Given the description of an element on the screen output the (x, y) to click on. 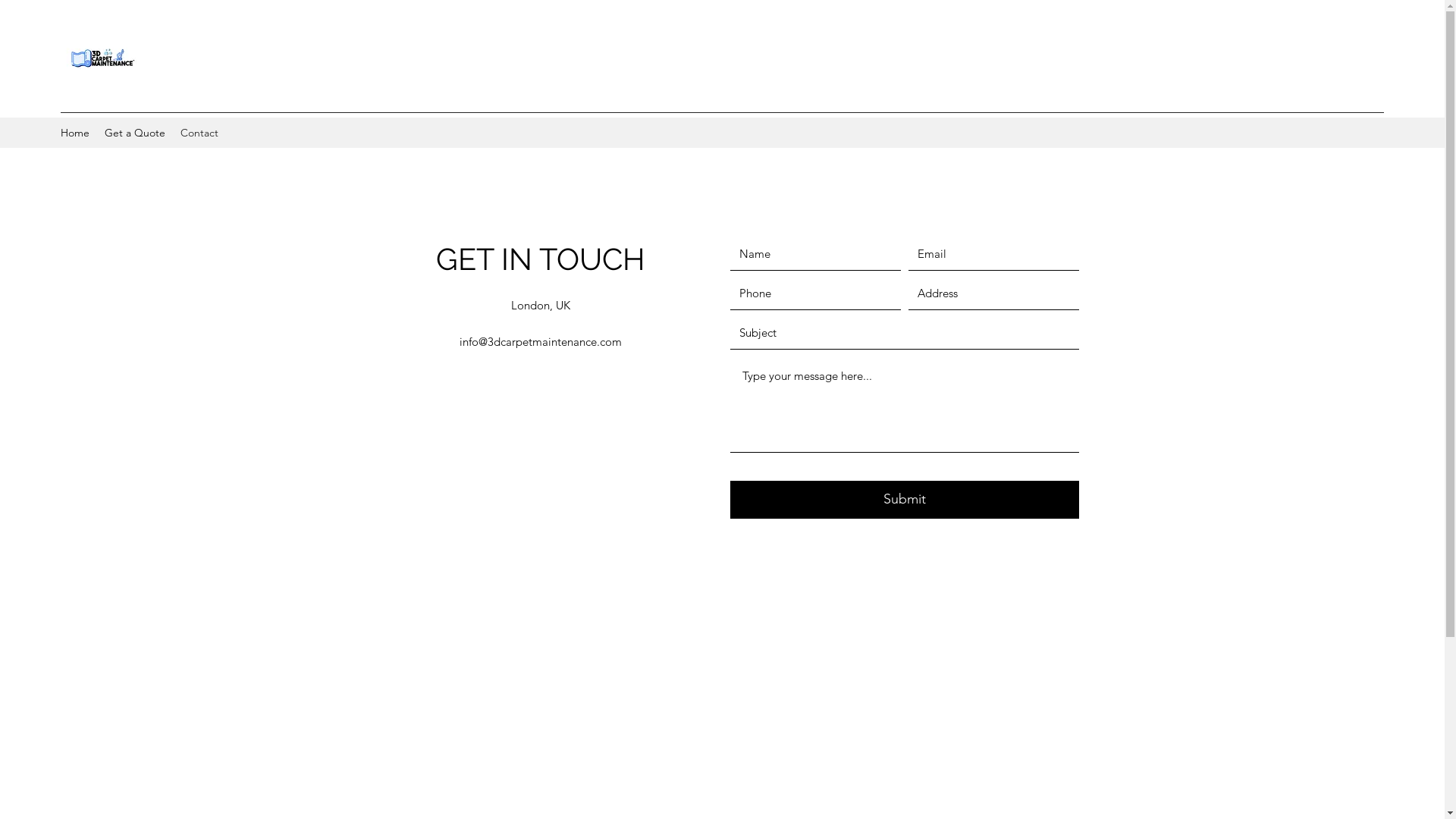
Home Element type: text (75, 132)
Get a Quote Element type: text (134, 132)
info@3dcarpetmaintenance.com Element type: text (540, 341)
Contact Element type: text (198, 132)
Submit Element type: text (903, 499)
